Given the description of an element on the screen output the (x, y) to click on. 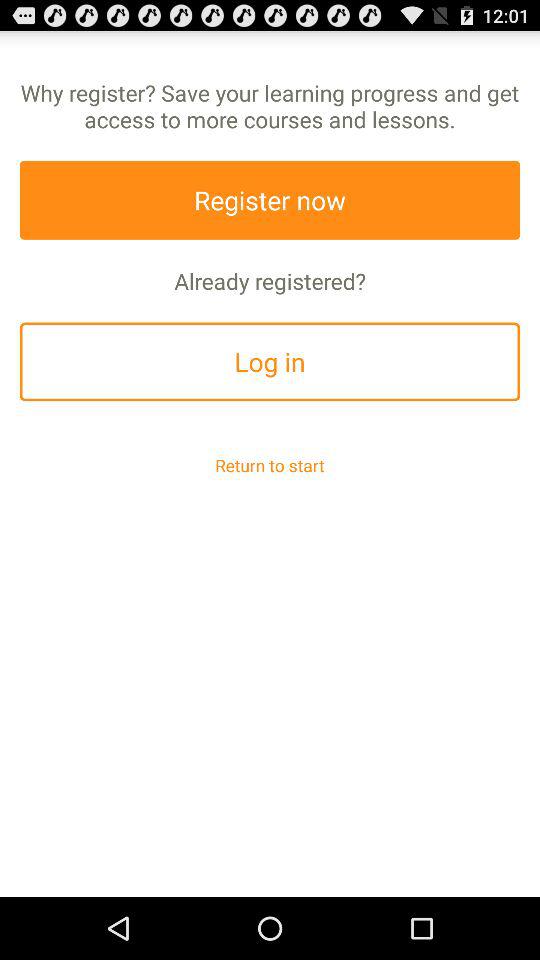
select app below the why register save item (269, 199)
